Given the description of an element on the screen output the (x, y) to click on. 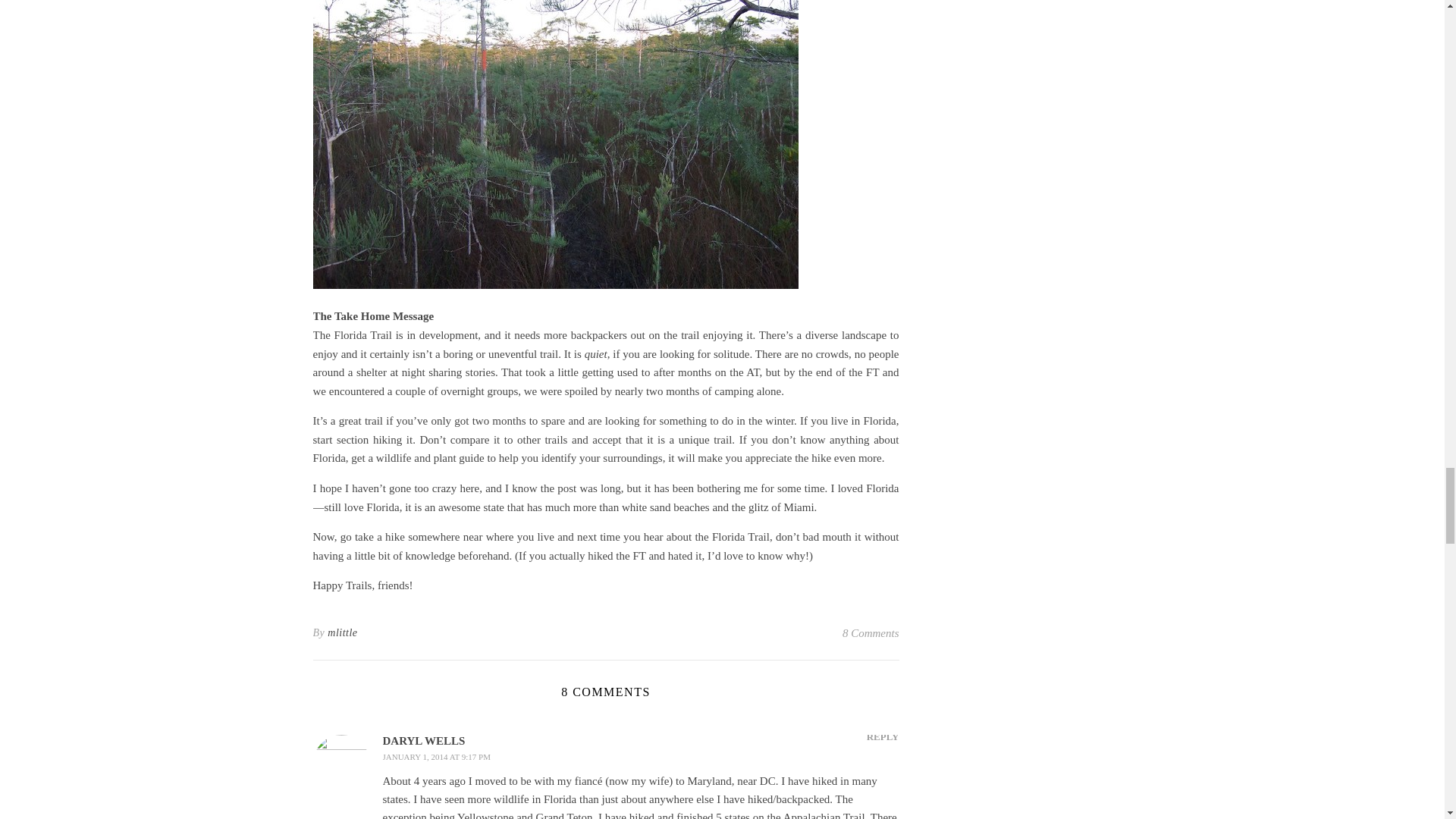
REPLY (882, 736)
Posts by mlittle (341, 632)
mlittle (341, 632)
8 Comments (871, 632)
JANUARY 1, 2014 AT 9:17 PM (435, 756)
